Given the description of an element on the screen output the (x, y) to click on. 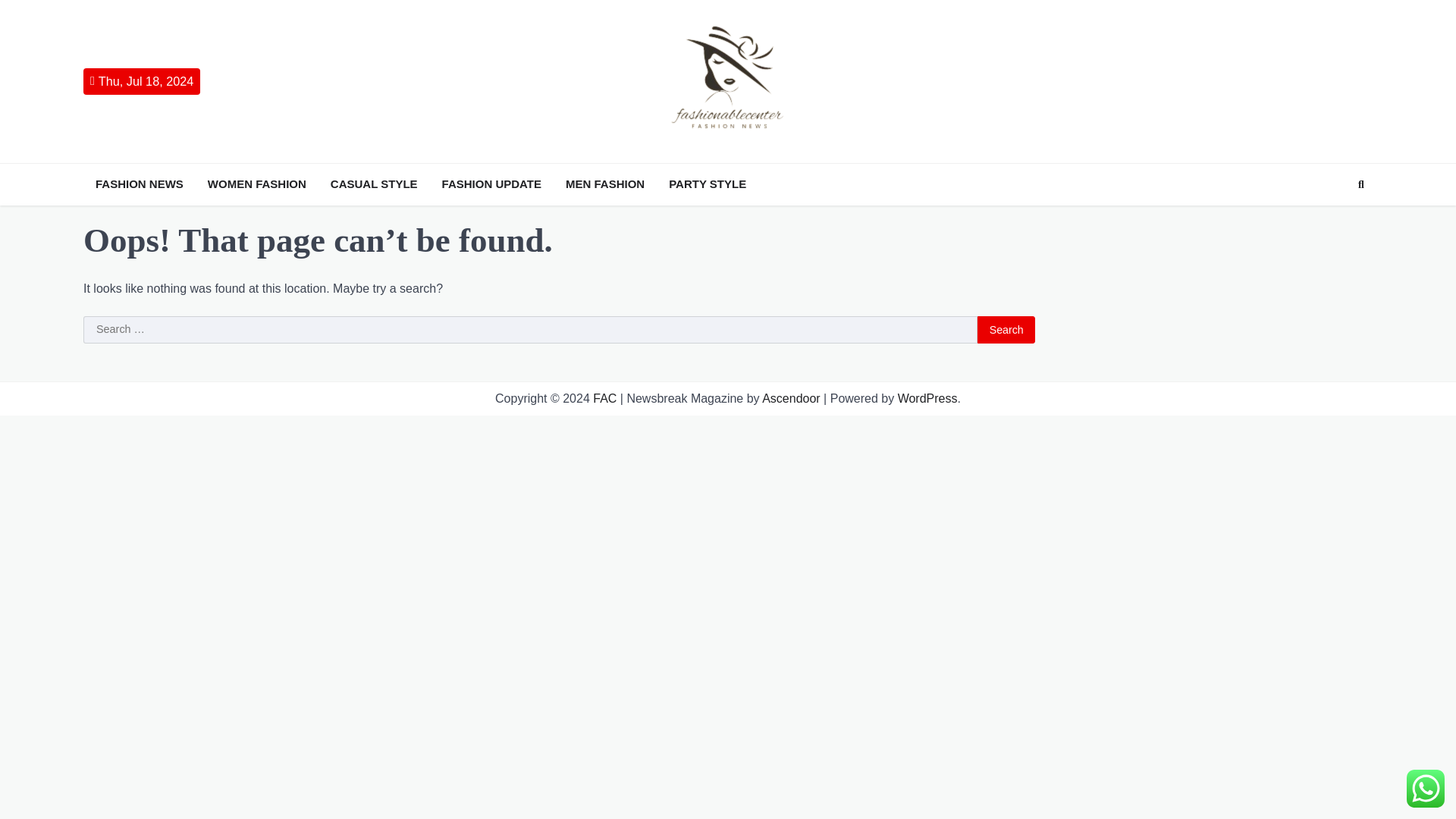
FAC (603, 398)
Search (1005, 329)
Search (1333, 219)
WordPress (928, 398)
Ascendoor (791, 398)
MEN FASHION (604, 184)
CASUAL STYLE (373, 184)
Search (1005, 329)
Search (1361, 183)
PARTY STYLE (707, 184)
WOMEN FASHION (257, 184)
FASHION NEWS (138, 184)
Search (1005, 329)
FASHION UPDATE (491, 184)
